Given the description of an element on the screen output the (x, y) to click on. 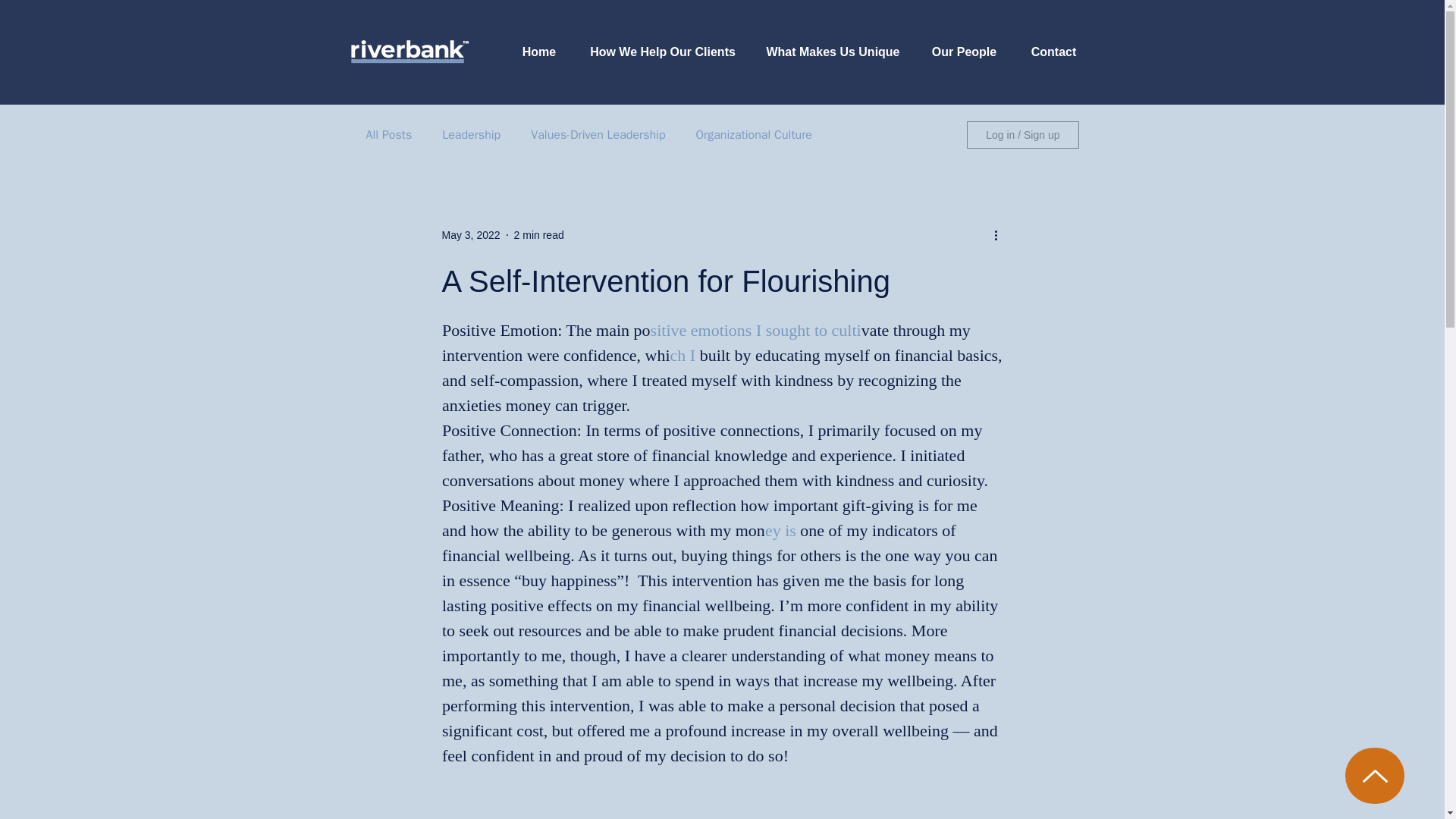
ch I (682, 354)
Contact (1053, 52)
sitive emotions I sought to culti (754, 330)
What Makes Us Unique (832, 52)
ey is  (781, 529)
Leadership (471, 135)
All Posts (388, 135)
How We Help Our Clients (663, 52)
May 3, 2022 (470, 234)
2 min read (538, 234)
Organizational Culture (753, 135)
Our People (963, 52)
Values-Driven Leadership (598, 135)
Home (538, 52)
